Given the description of an element on the screen output the (x, y) to click on. 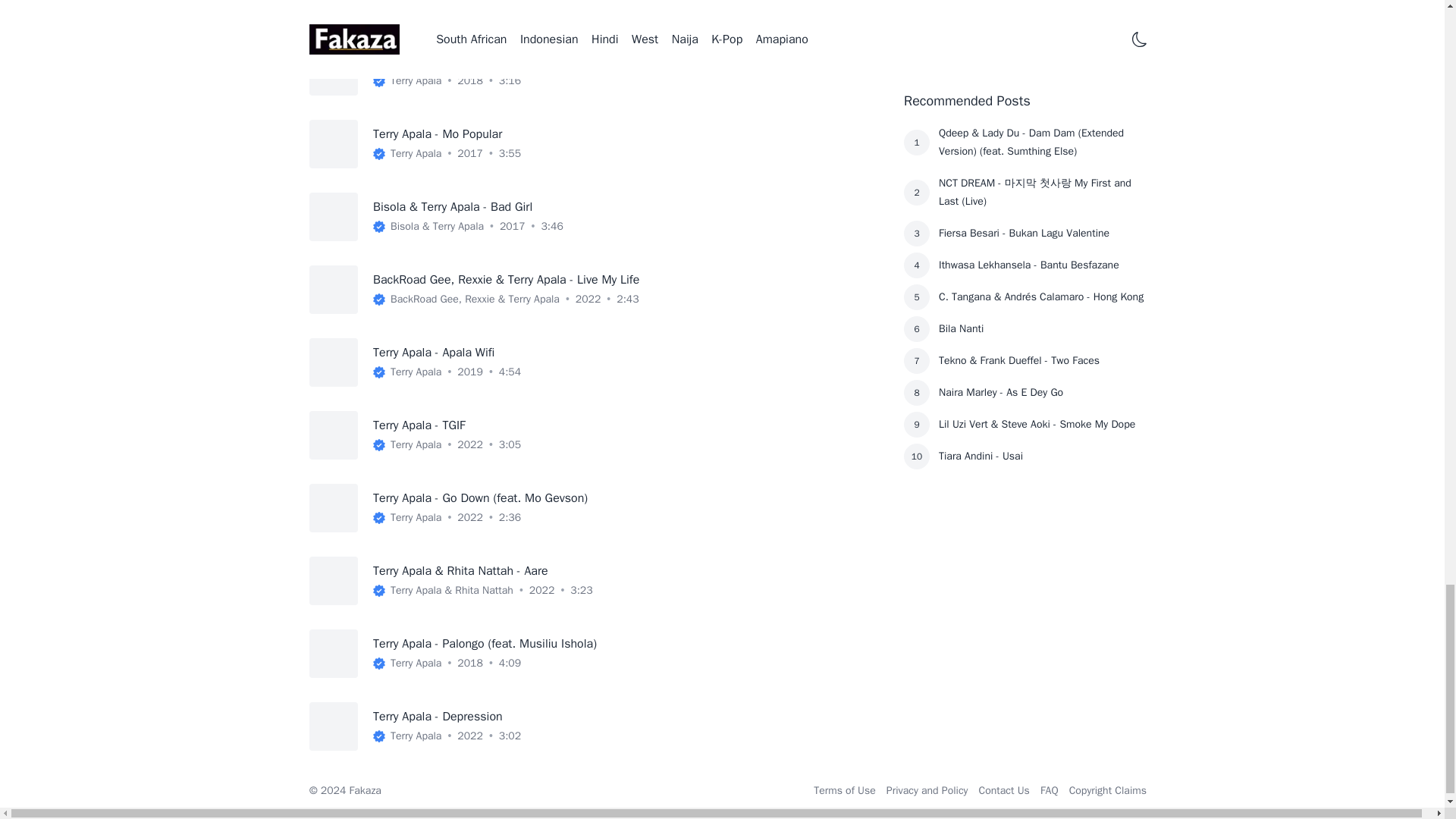
Terry Apala - Apala Wifi (433, 352)
Contact Us (1003, 789)
Terry Apala - Depression (437, 716)
Terry Apala - TGIF (418, 425)
Terms of Use (844, 789)
Privacy and Policy (927, 789)
Terry Apala - Depression (437, 716)
Terry Apala - Baca (420, 61)
Terry Apala - Mo Popular (437, 133)
Terry Apala - TGIF (418, 425)
Terry Apala - Mo Popular (437, 133)
Terry Apala - Baca (420, 61)
Terry Apala - Apala Wifi (433, 352)
